Given the description of an element on the screen output the (x, y) to click on. 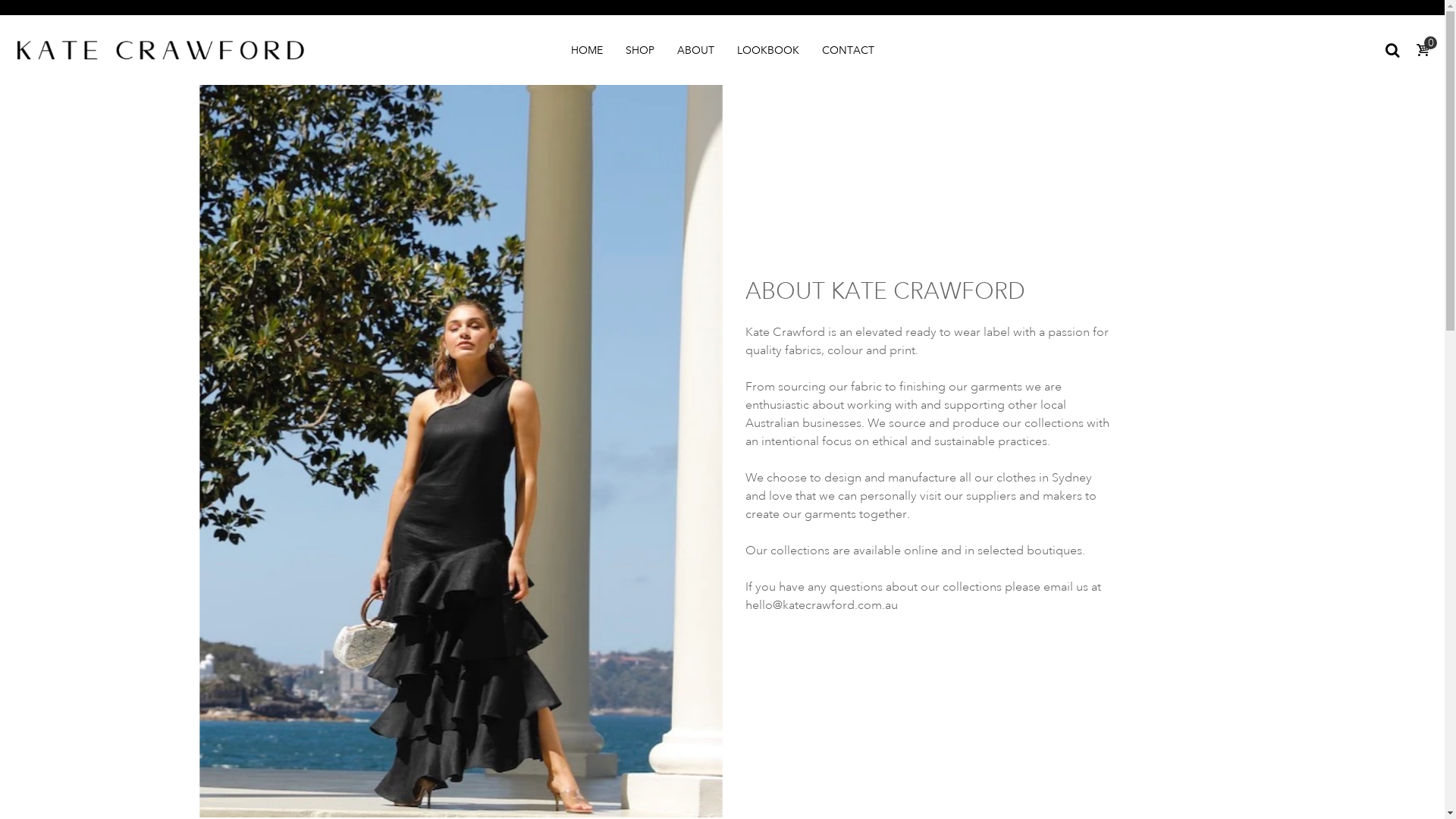
SHOP Element type: text (638, 49)
HOME Element type: text (586, 49)
Kate Crawford Element type: hover (160, 48)
0 Element type: text (1422, 50)
LOOKBOOK Element type: text (768, 49)
ABOUT Element type: text (694, 49)
CONTACT Element type: text (848, 49)
